Given the description of an element on the screen output the (x, y) to click on. 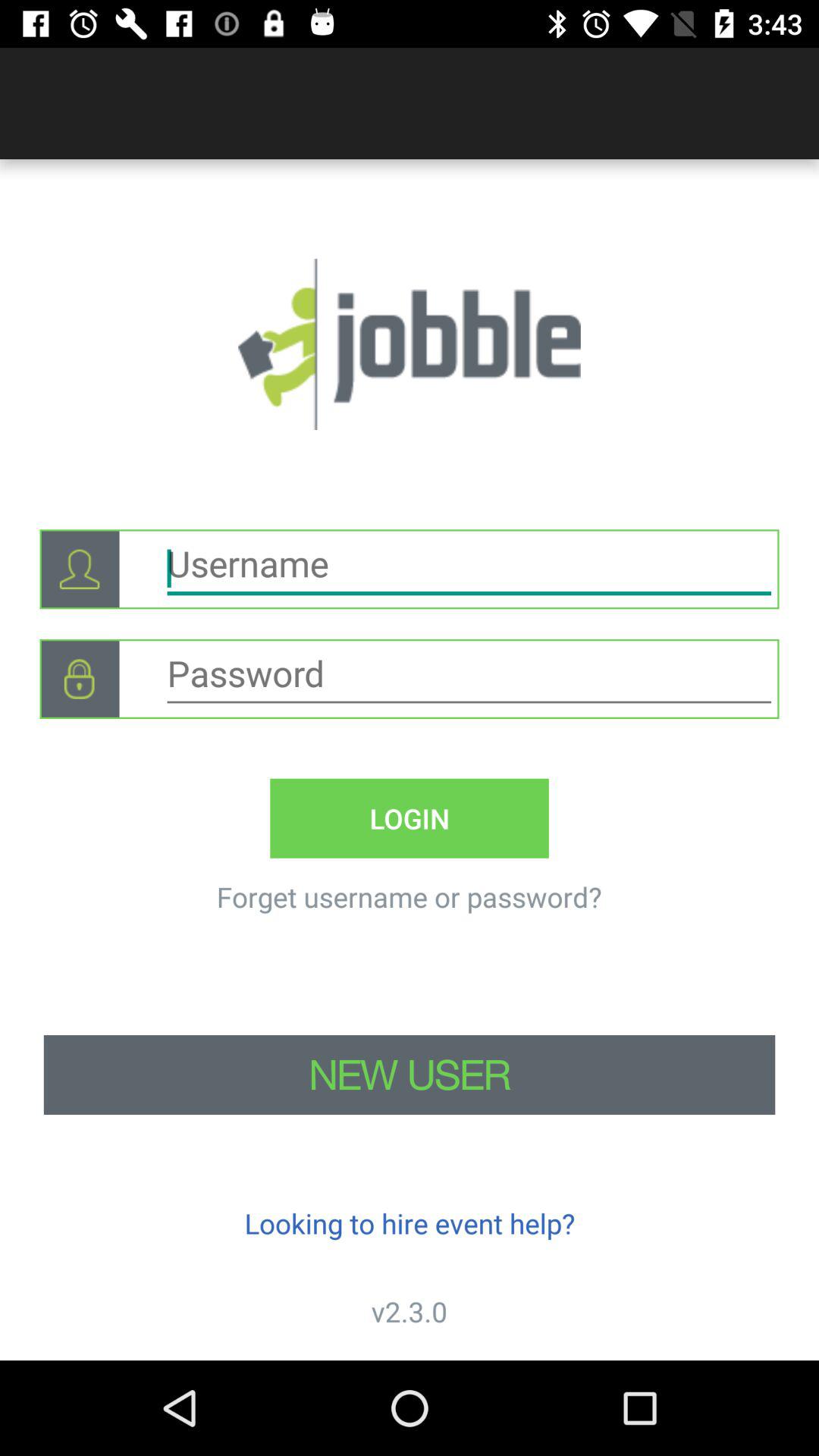
jump until new user item (409, 1074)
